Given the description of an element on the screen output the (x, y) to click on. 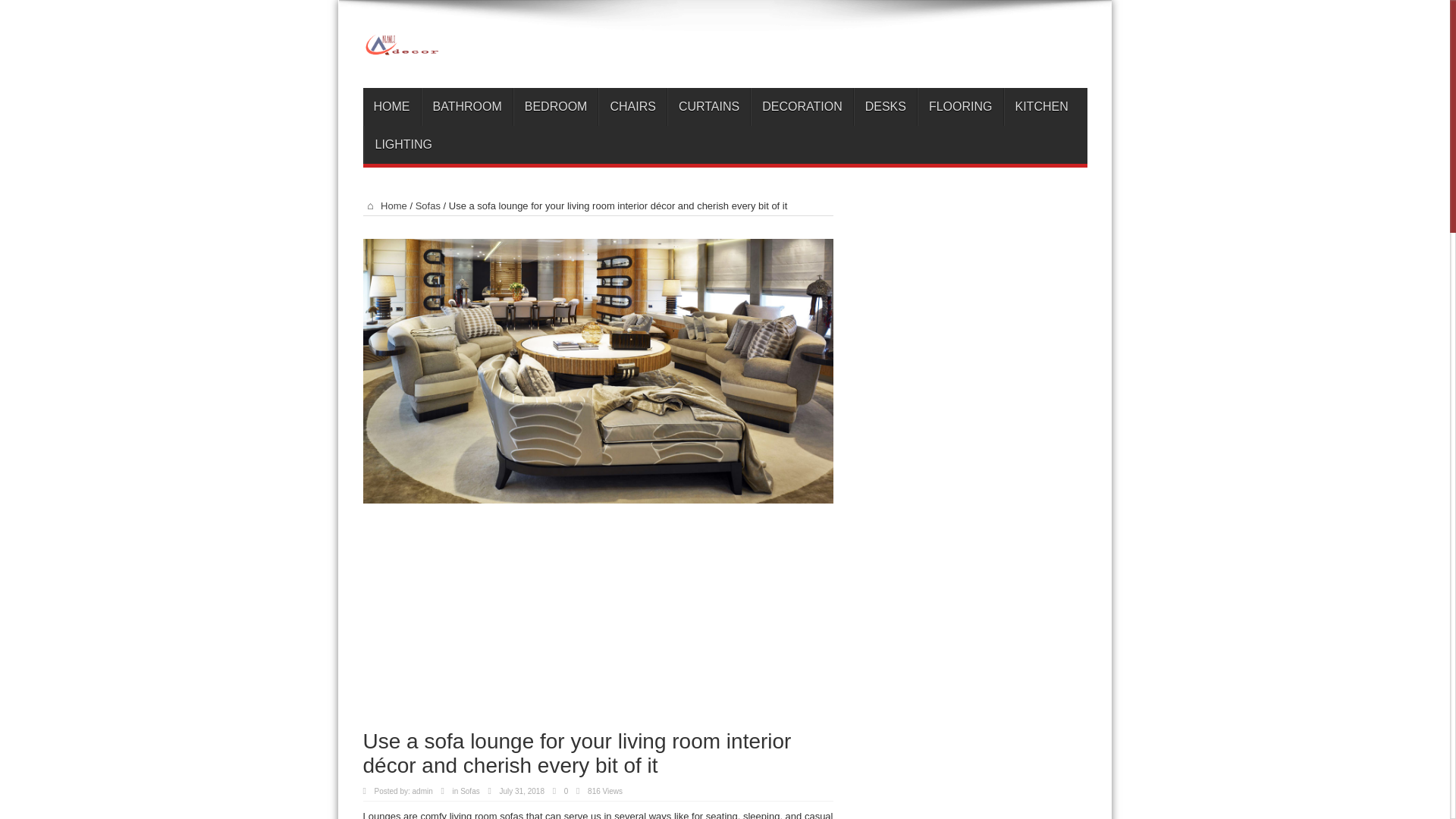
Advertisement (597, 622)
elisdecor.com (724, 49)
